Given the description of an element on the screen output the (x, y) to click on. 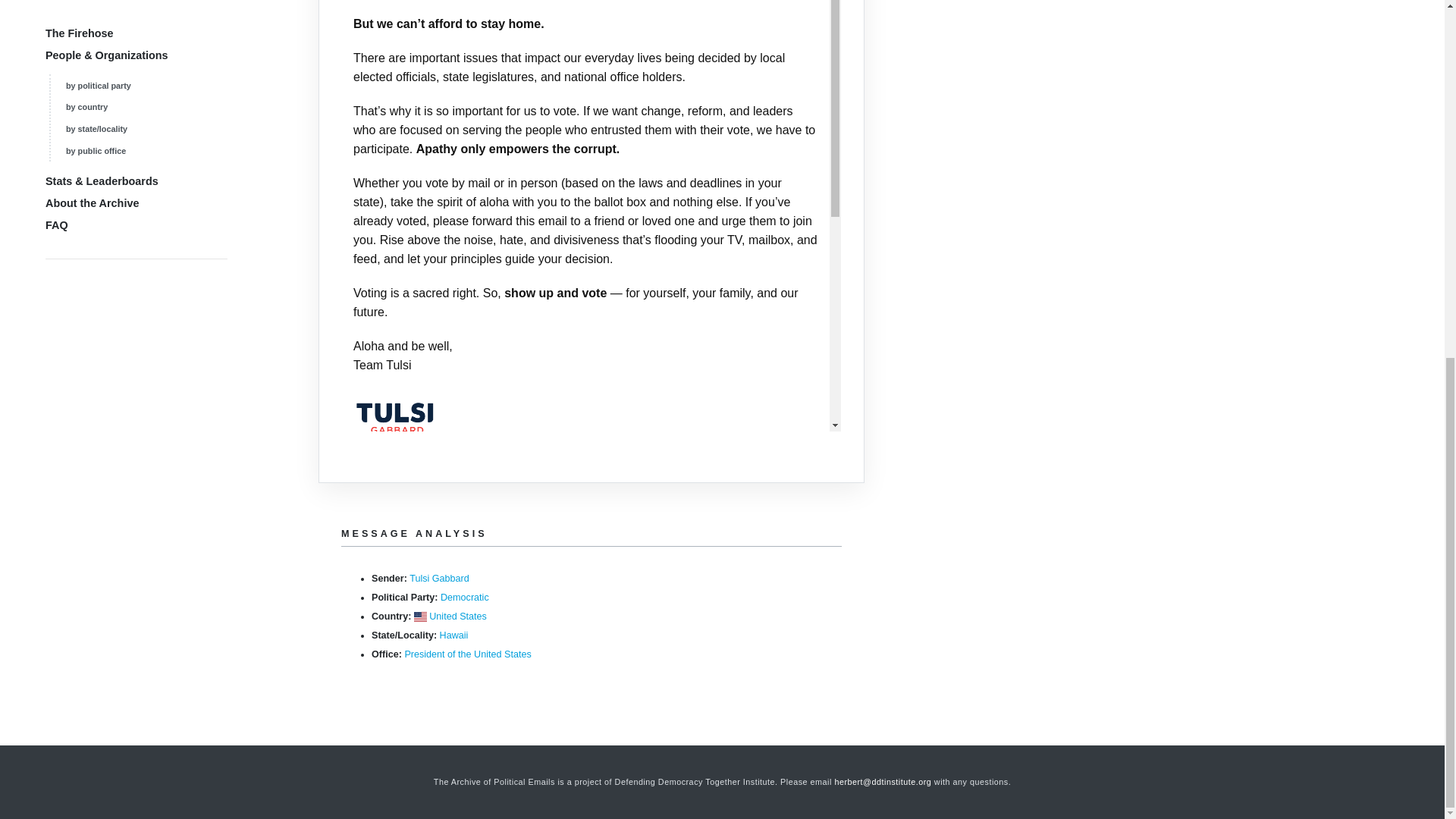
Tulsi Gabbard (438, 578)
Democratic (465, 597)
United States (457, 615)
Hawaii (453, 634)
President of the United States (467, 654)
